Given the description of an element on the screen output the (x, y) to click on. 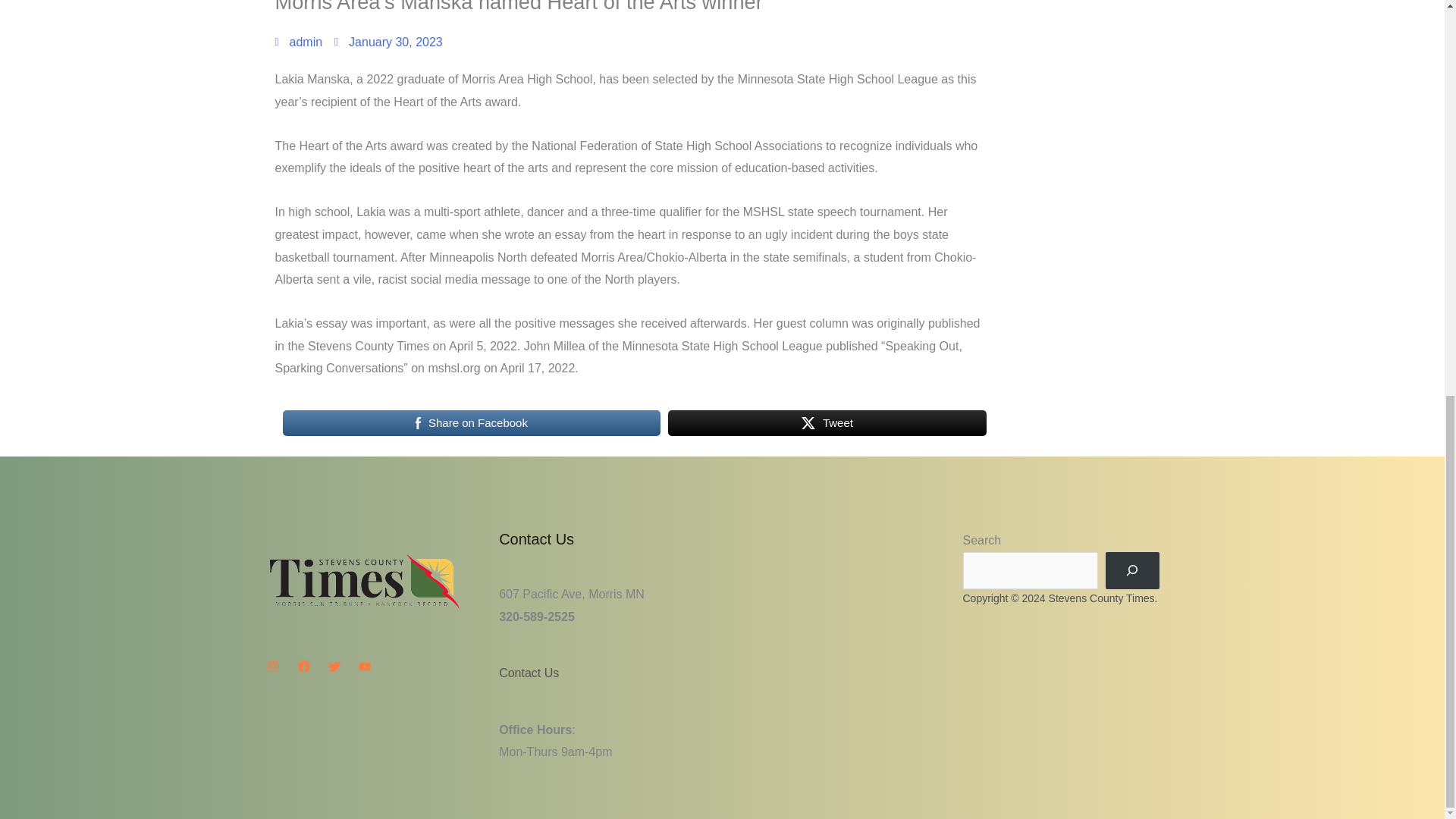
admin (298, 42)
Contact Us (529, 672)
Share on Facebook (471, 422)
January 30, 2023 (388, 42)
Tweet (826, 422)
